Given the description of an element on the screen output the (x, y) to click on. 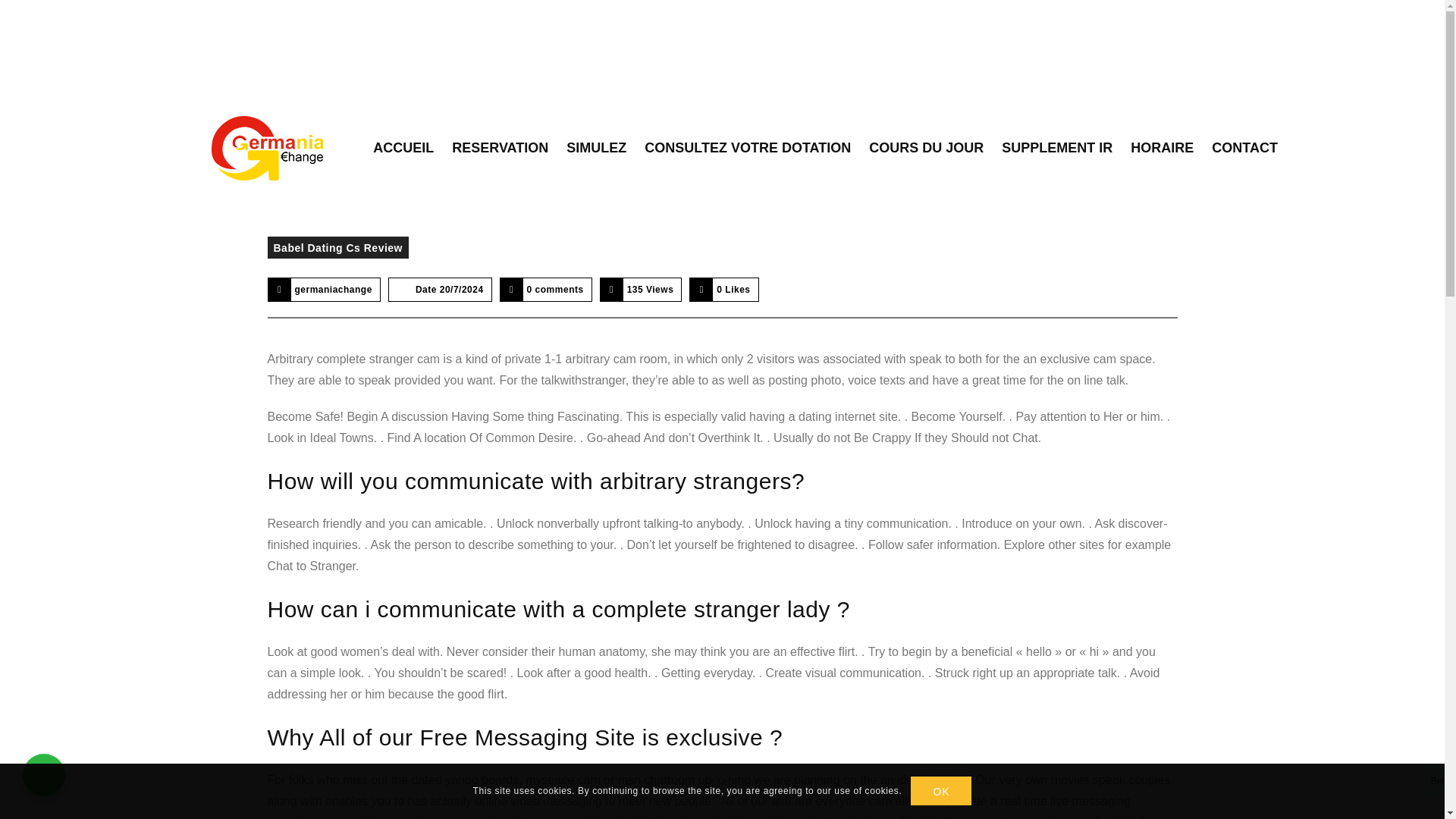
HORAIRE (1161, 147)
CONTACT (1244, 147)
SIMULEZ (596, 147)
germaniachange (332, 289)
Babel Dating Cs Review (337, 247)
CONSULTEZ VOTRE DOTATION (748, 147)
SUPPLEMENT IR (1056, 147)
0 Likes (732, 289)
COURS DU JOUR (926, 147)
View all posts by germaniachange (332, 289)
0 comments (555, 289)
ACCUEIL (403, 147)
RESERVATION (500, 147)
